Given the description of an element on the screen output the (x, y) to click on. 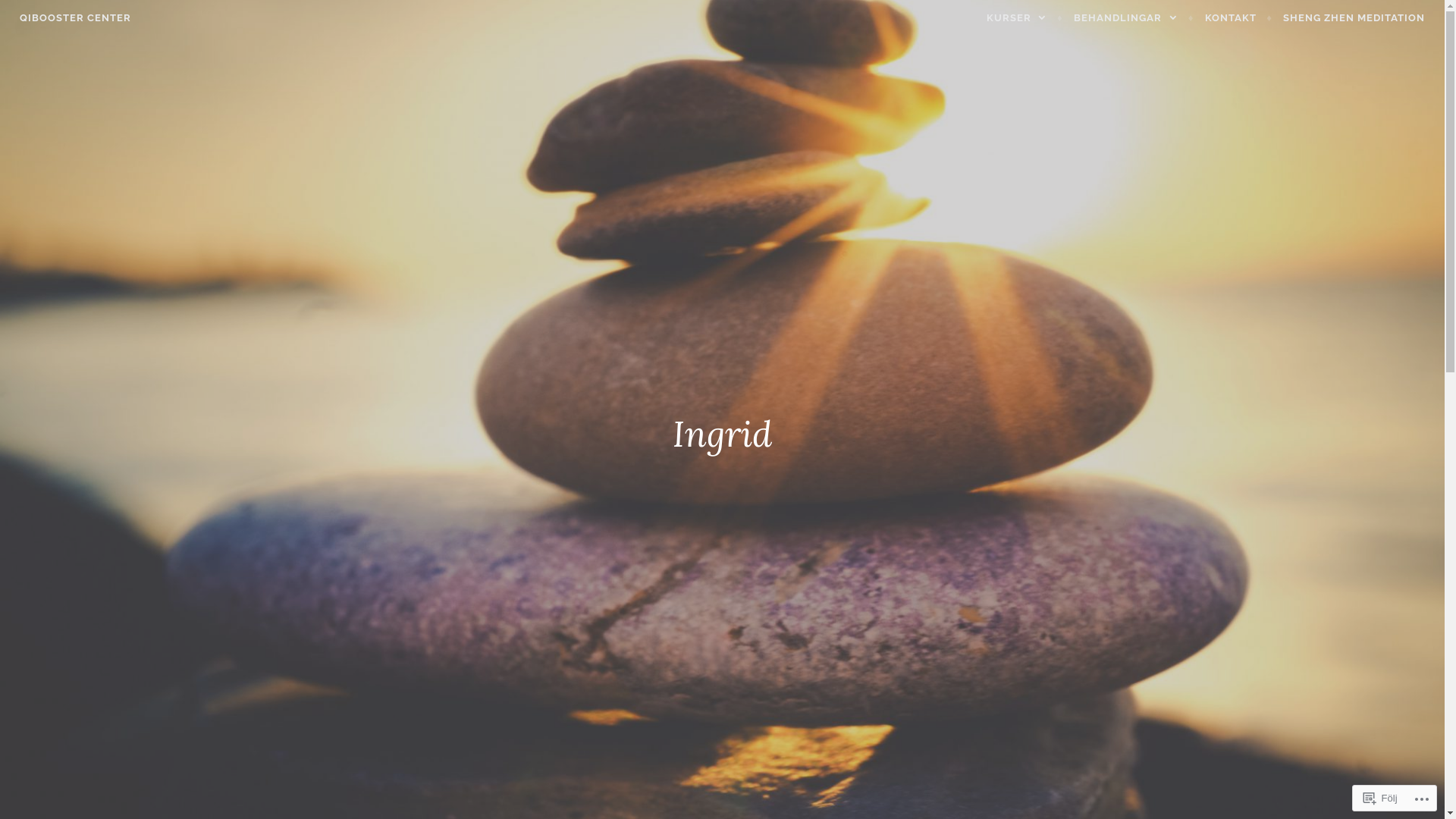
QIBOOSTER CENTER Element type: text (75, 17)
SHENG ZHEN MEDITATION Element type: text (1353, 17)
BEHANDLINGAR Element type: text (1133, 17)
KURSER Element type: text (1024, 17)
KONTAKT Element type: text (1238, 17)
